Given the description of an element on the screen output the (x, y) to click on. 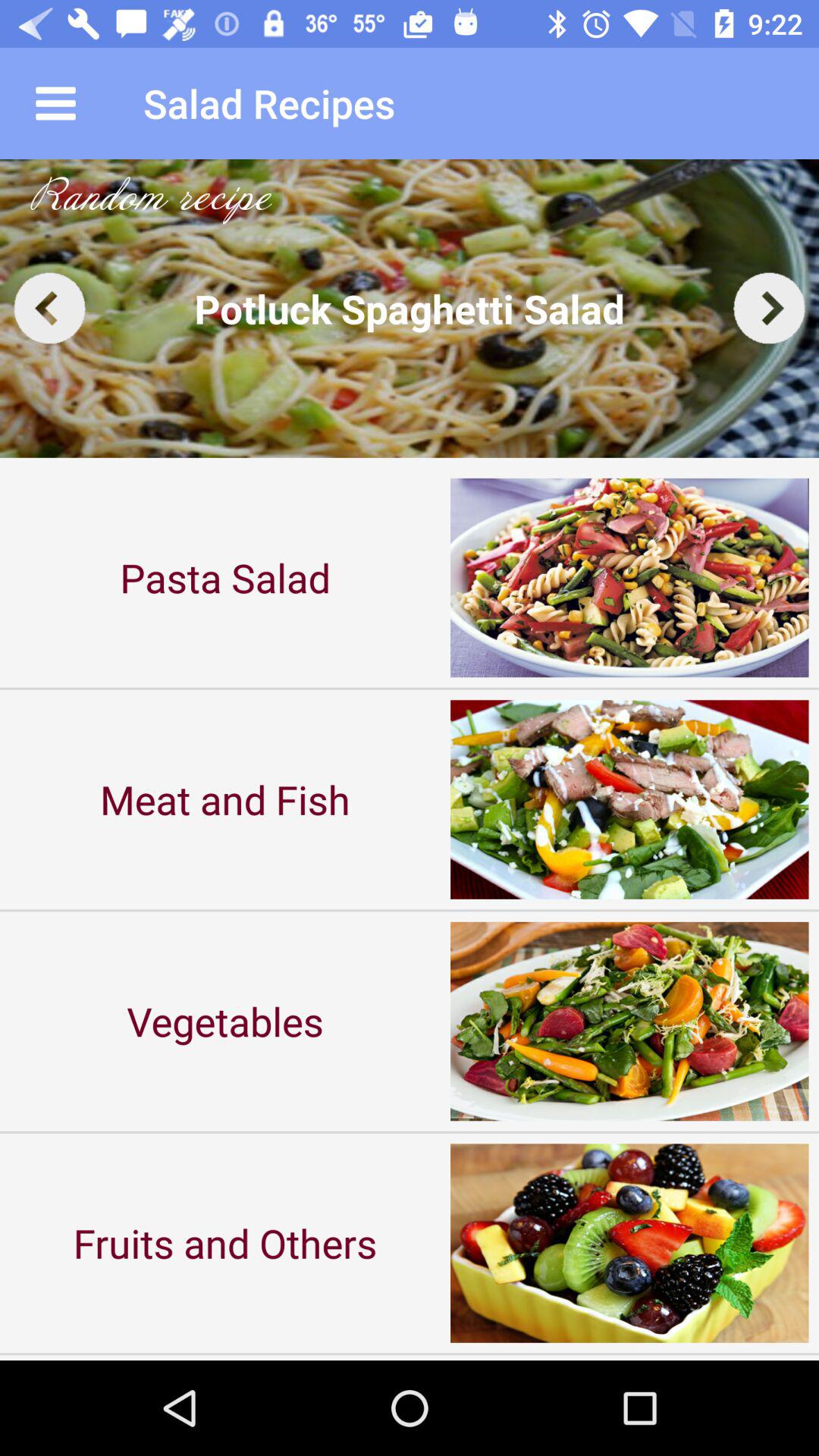
select icon below vegetables item (225, 1242)
